Given the description of an element on the screen output the (x, y) to click on. 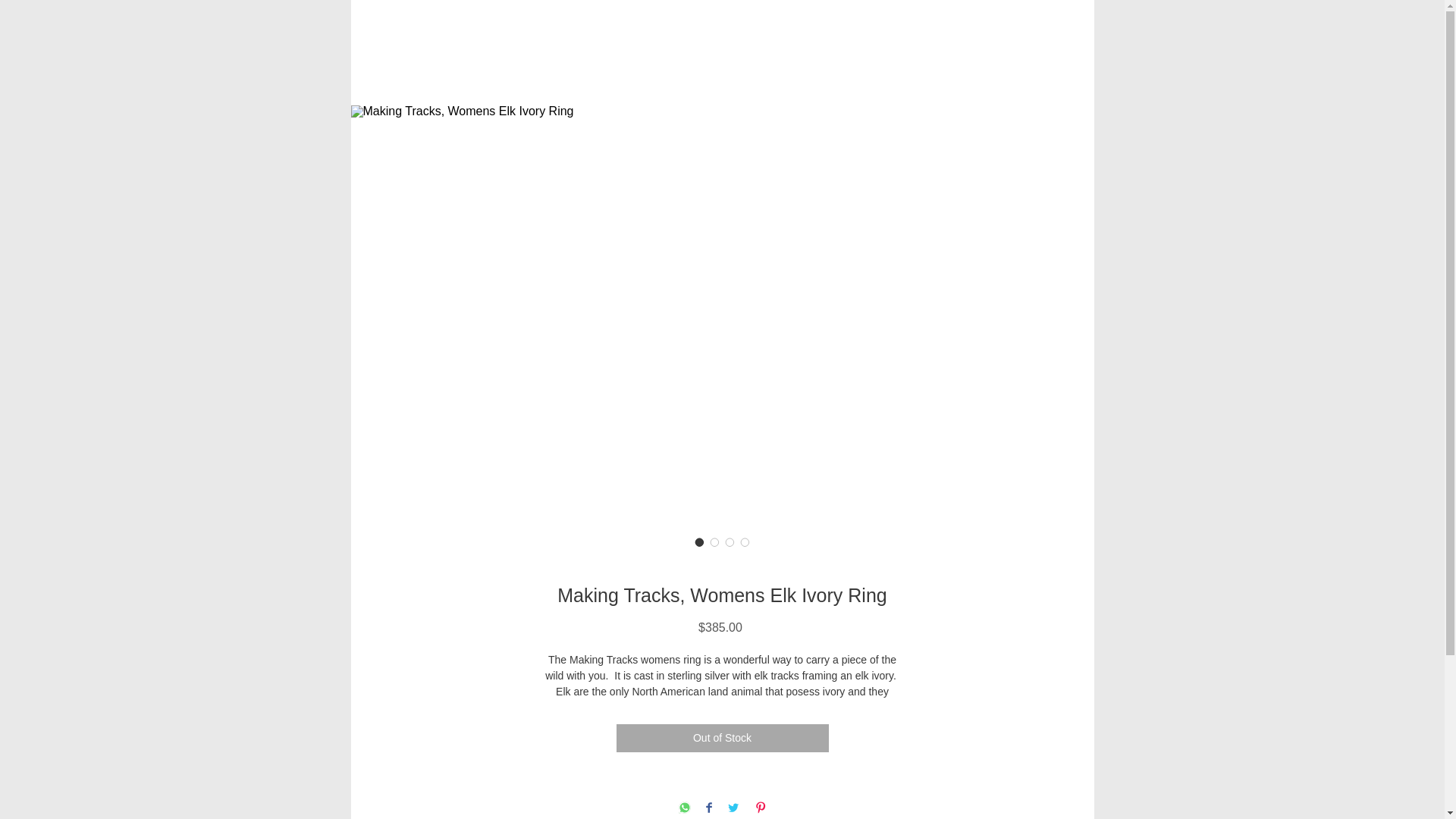
Out of Stock (721, 737)
